Given the description of an element on the screen output the (x, y) to click on. 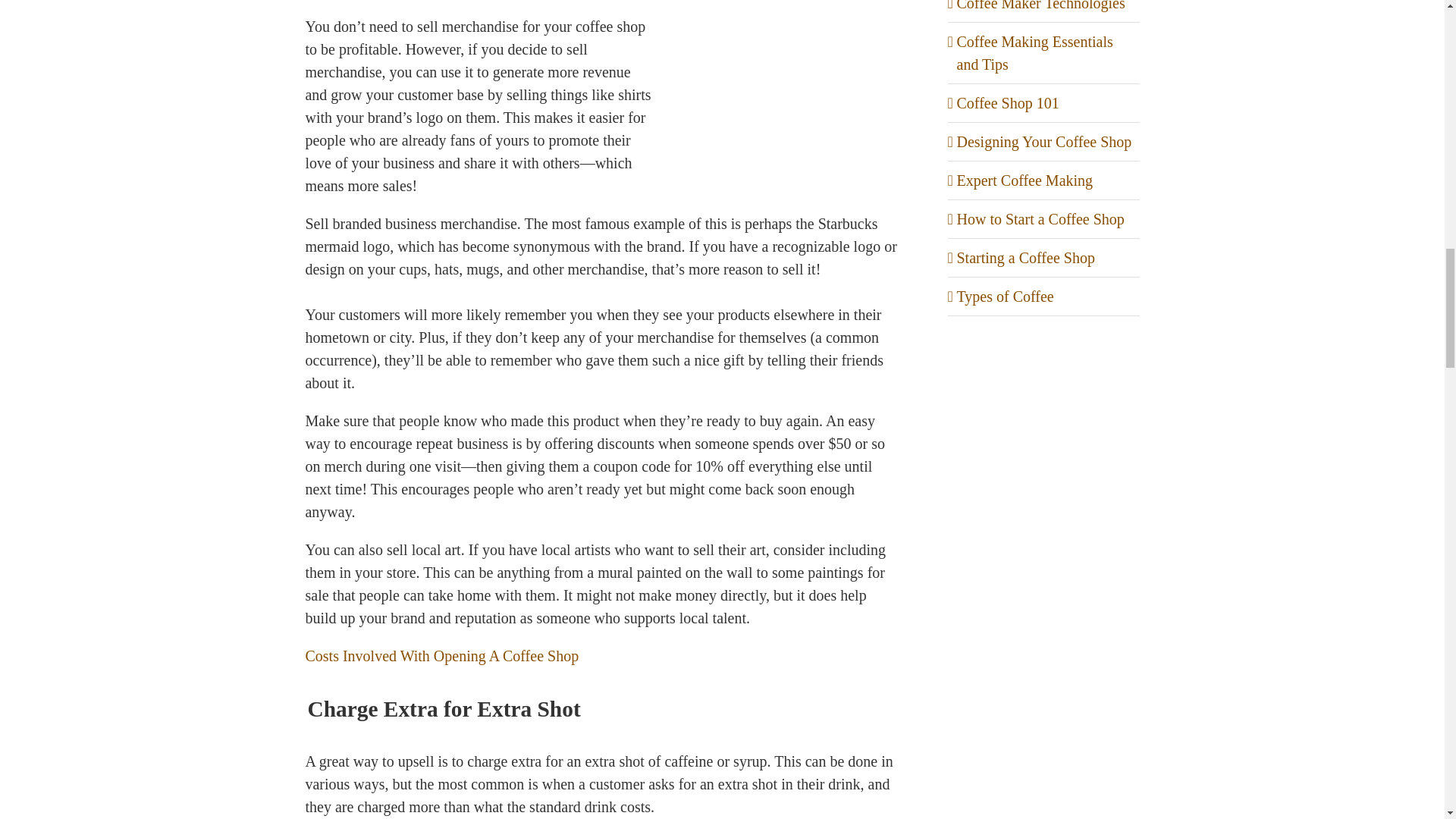
Costs Involved With Opening A Coffee Shop (441, 655)
